Given the description of an element on the screen output the (x, y) to click on. 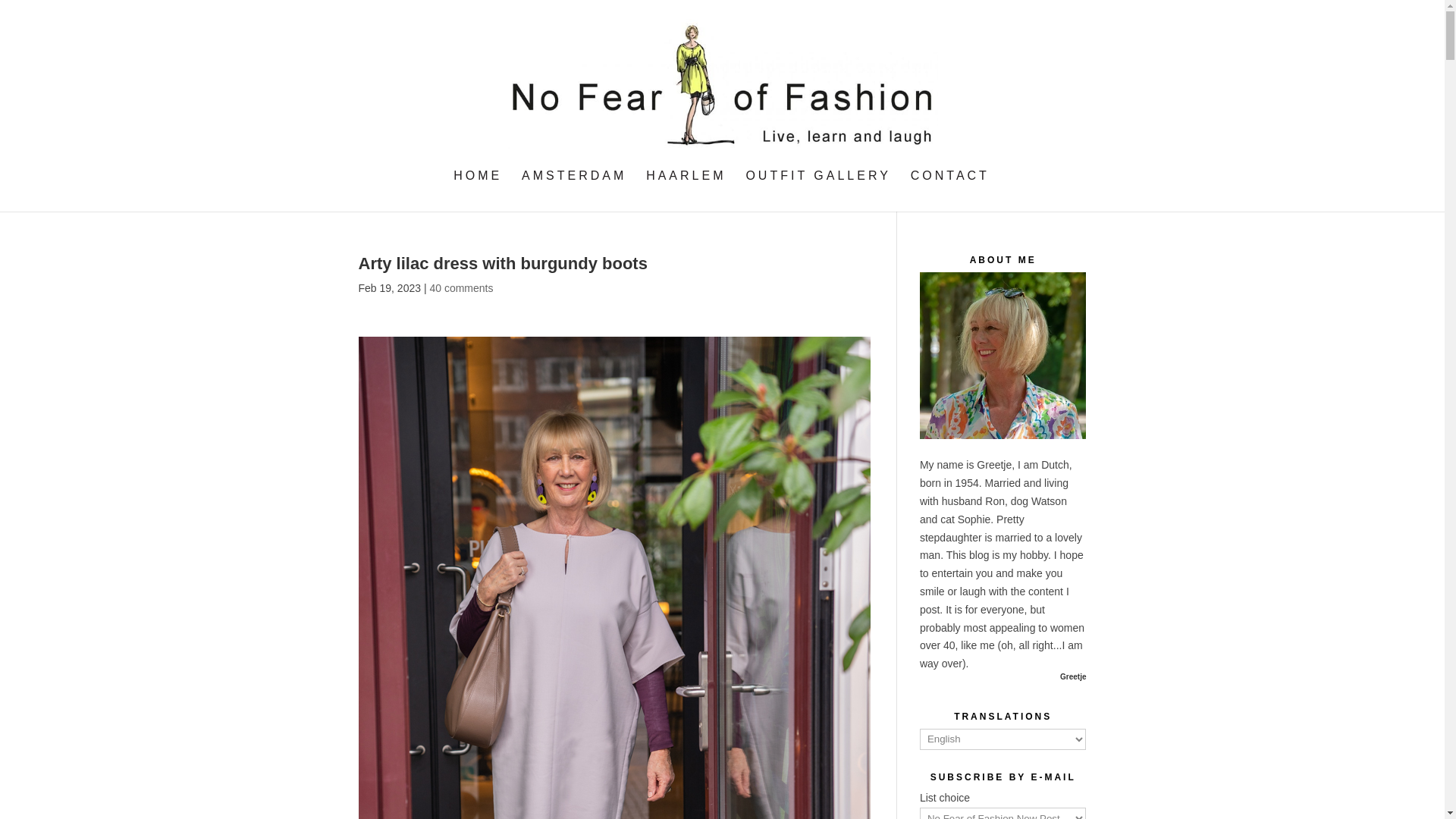
CONTACT (950, 190)
AMSTERDAM (573, 190)
HAARLEM (685, 190)
HOME (477, 190)
40 comments (461, 287)
OUTFIT GALLERY (817, 190)
